Given the description of an element on the screen output the (x, y) to click on. 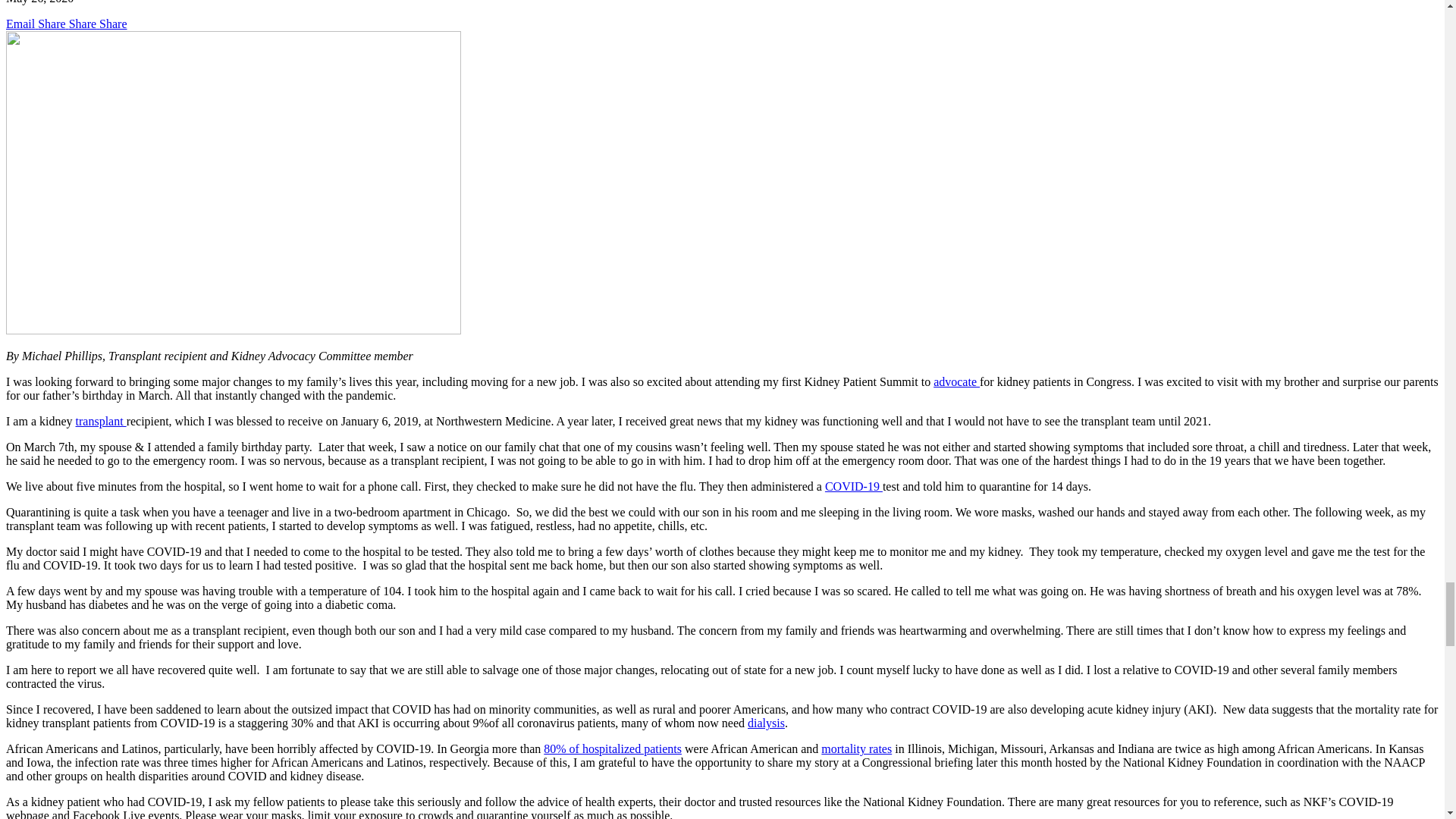
Share to X (83, 23)
Share to Facebook (52, 23)
Share to Linkedin (112, 23)
Share to Email (21, 23)
